Given the description of an element on the screen output the (x, y) to click on. 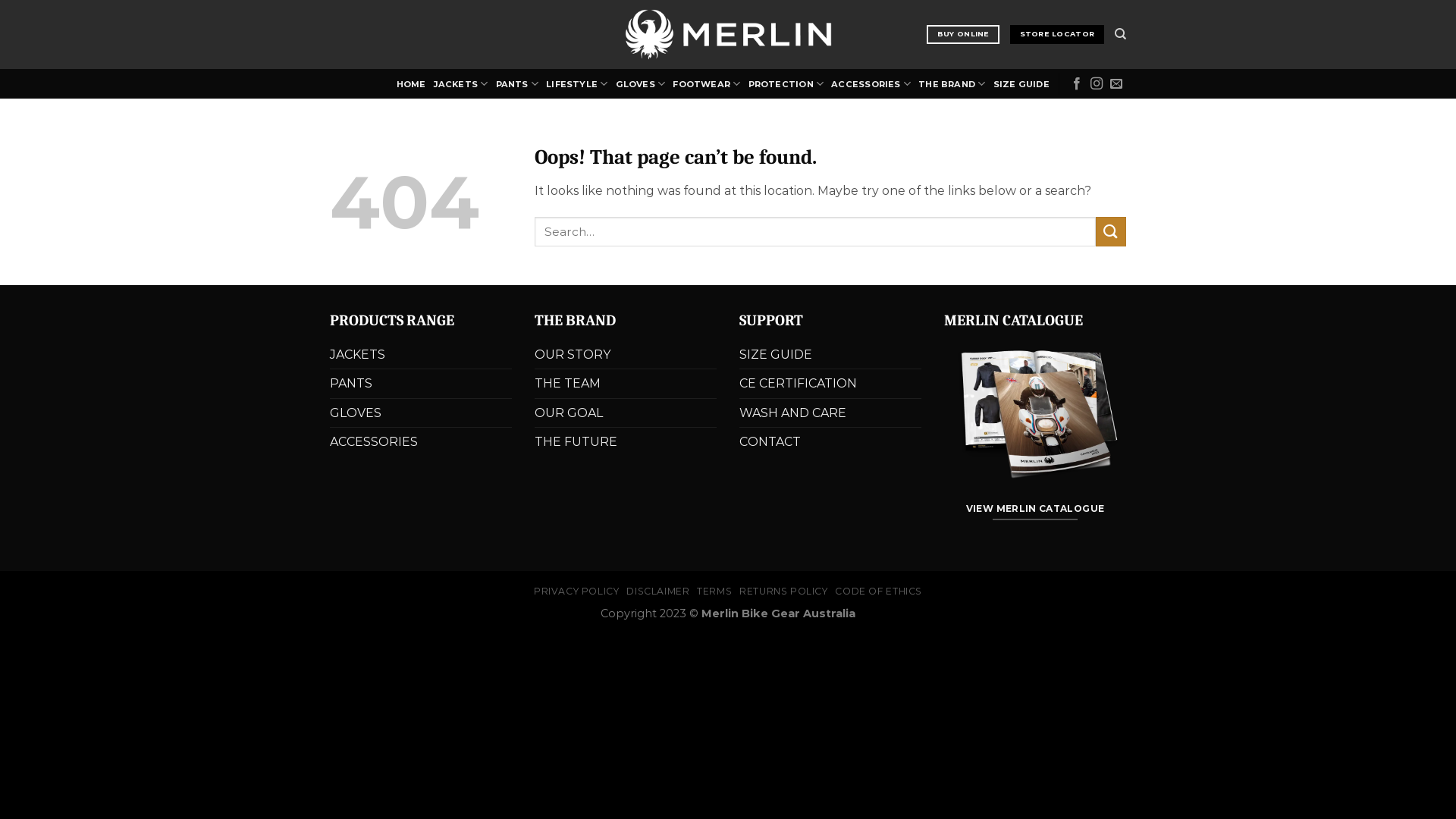
THE TEAM Element type: text (567, 383)
OUR GOAL Element type: text (568, 412)
OUR STORY Element type: text (572, 354)
PANTS Element type: text (517, 83)
Merlin Bike Gear | Australia - Merlin Bike Gear | Australia Element type: hover (727, 34)
ACCESSORIES Element type: text (373, 441)
Follow on Instagram Element type: hover (1096, 84)
JACKETS Element type: text (357, 354)
DISCLAIMER Element type: text (657, 590)
Send us an email Element type: hover (1116, 84)
STORE LOCATOR Element type: text (1057, 34)
LIFESTYLE Element type: text (576, 83)
THE BRAND Element type: text (574, 320)
CE CERTIFICATION Element type: text (797, 383)
ACCESSORIES Element type: text (870, 83)
HOME Element type: text (411, 83)
Follow on Facebook Element type: hover (1076, 84)
CODE OF ETHICS Element type: text (878, 590)
GLOVES Element type: text (355, 412)
THE BRAND Element type: text (951, 83)
JACKETS Element type: text (460, 83)
BUY ONLINE Element type: text (962, 34)
CONTACT Element type: text (769, 441)
VIEW MERLIN CATALOGUE Element type: text (1034, 508)
PROTECTION Element type: text (786, 83)
SIZE GUIDE Element type: text (1021, 83)
TERMS Element type: text (713, 590)
FOOTWEAR Element type: text (706, 83)
PANTS Element type: text (350, 383)
WASH AND CARE Element type: text (792, 412)
SIZE GUIDE Element type: text (775, 354)
THE FUTURE Element type: text (575, 441)
RETURNS POLICY Element type: text (783, 590)
GLOVES Element type: text (640, 83)
Cracked Bulb Design Element type: text (764, 630)
PRIVACY POLICY Element type: text (576, 590)
